Given the description of an element on the screen output the (x, y) to click on. 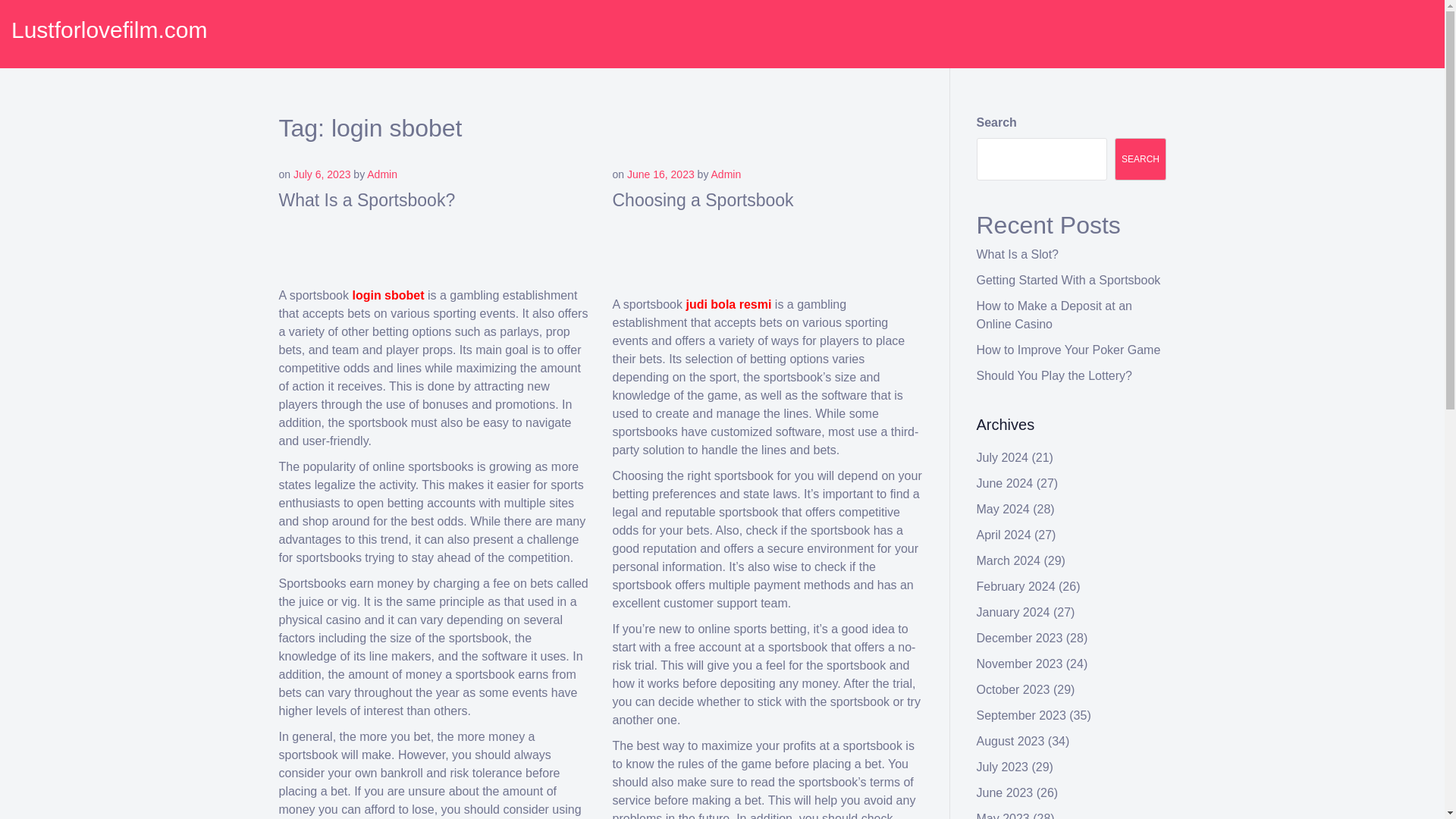
Getting Started With a Sportsbook (1068, 279)
July 6, 2023 (322, 174)
July 2024 (1002, 457)
login sbobet (387, 295)
August 2023 (1010, 740)
Admin (726, 174)
February 2024 (1015, 585)
November 2023 (1019, 663)
May 2024 (1002, 508)
June 16, 2023 (660, 174)
judi bola resmi (728, 304)
January 2024 (1012, 612)
What Is a Sportsbook? (367, 199)
Choosing a Sportsbook (702, 199)
June 2024 (1004, 482)
